Given the description of an element on the screen output the (x, y) to click on. 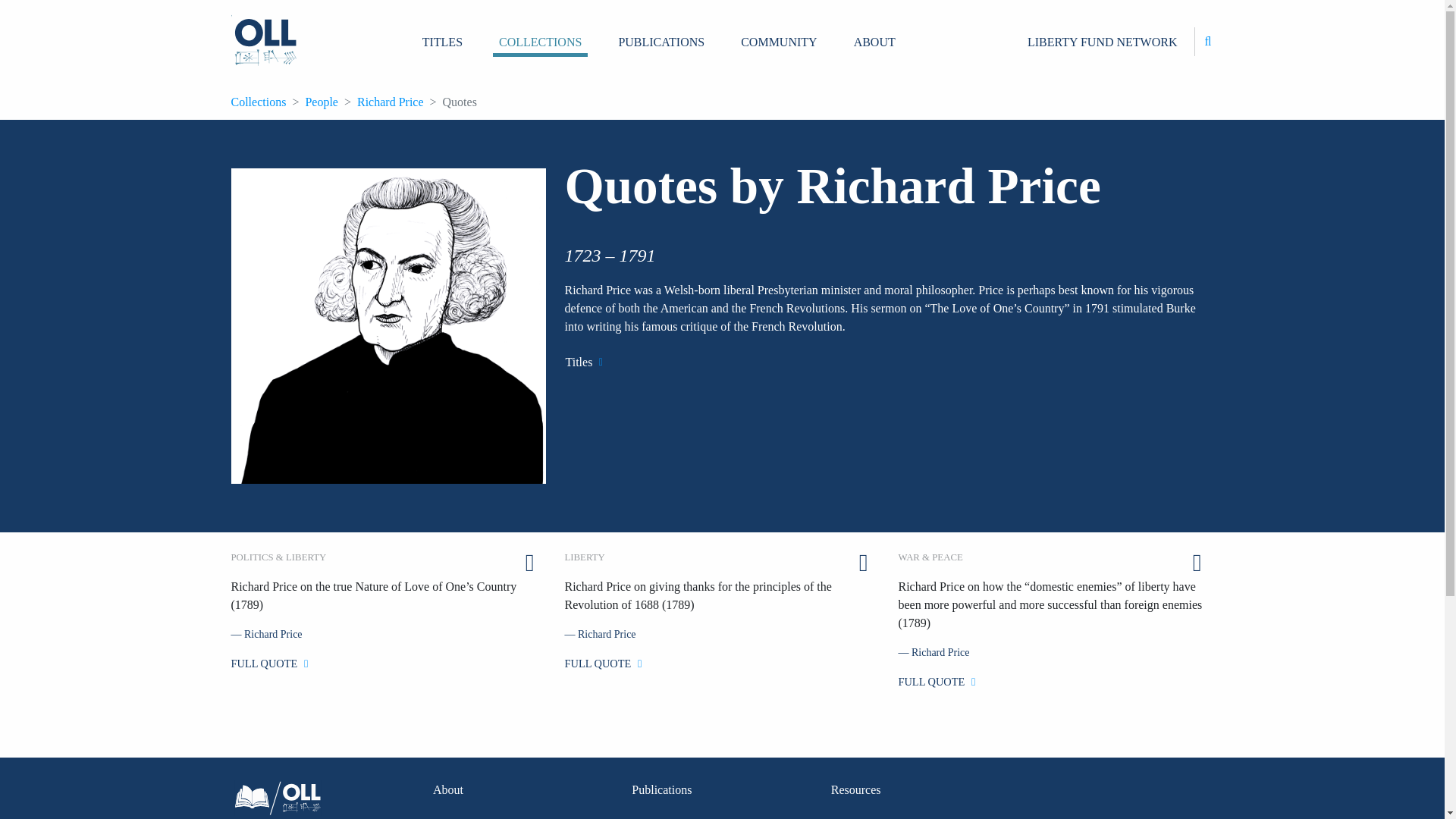
Richard Price (389, 101)
People (320, 101)
FULL QUOTE (268, 663)
Collections (257, 101)
COLLECTIONS (540, 41)
About (447, 789)
COMMUNITY (778, 42)
FULL QUOTE (936, 681)
FULL QUOTE (603, 663)
LIBERTY FUND NETWORK (1102, 42)
